Given the description of an element on the screen output the (x, y) to click on. 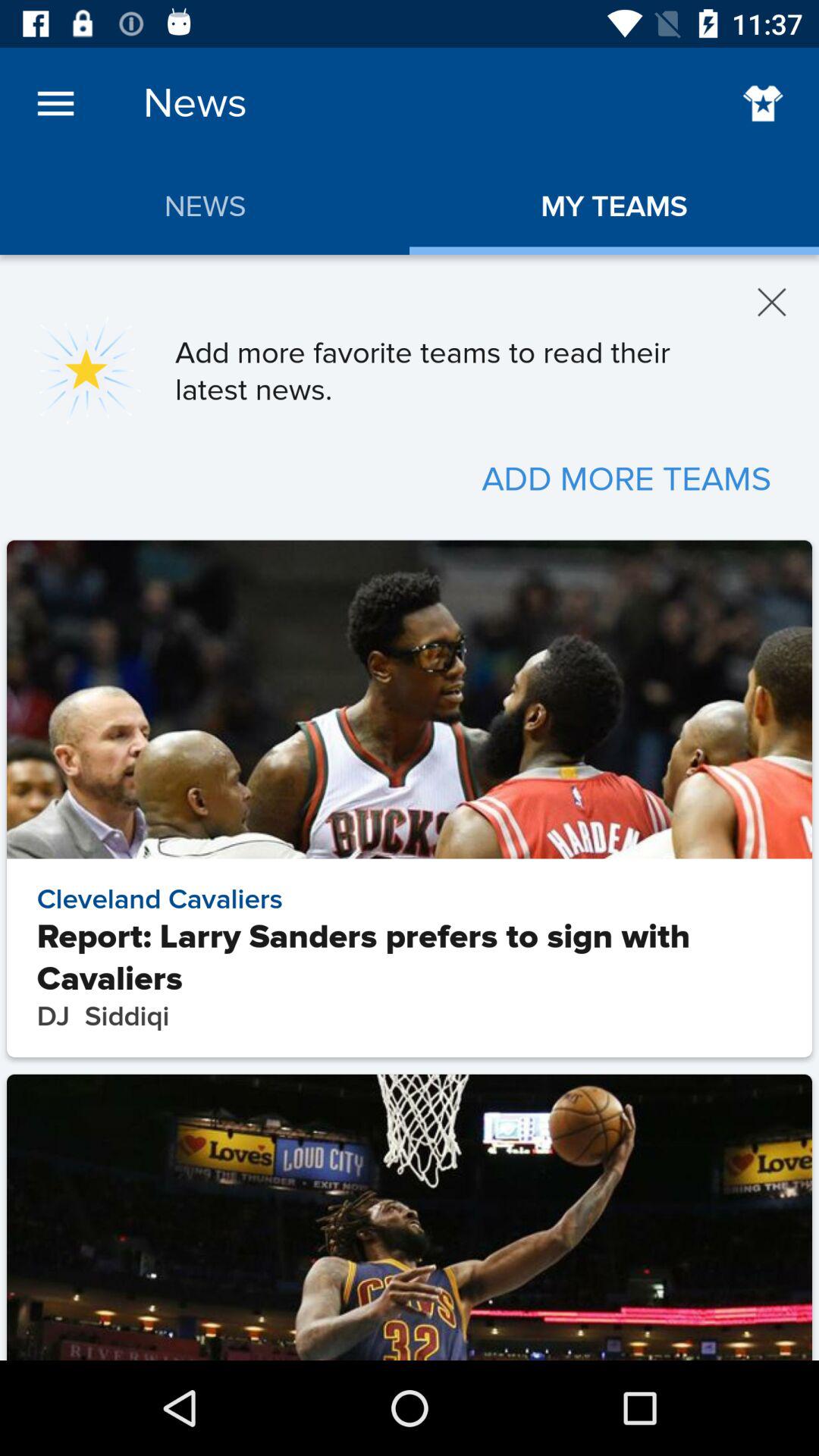
dismiss notification (772, 302)
